Given the description of an element on the screen output the (x, y) to click on. 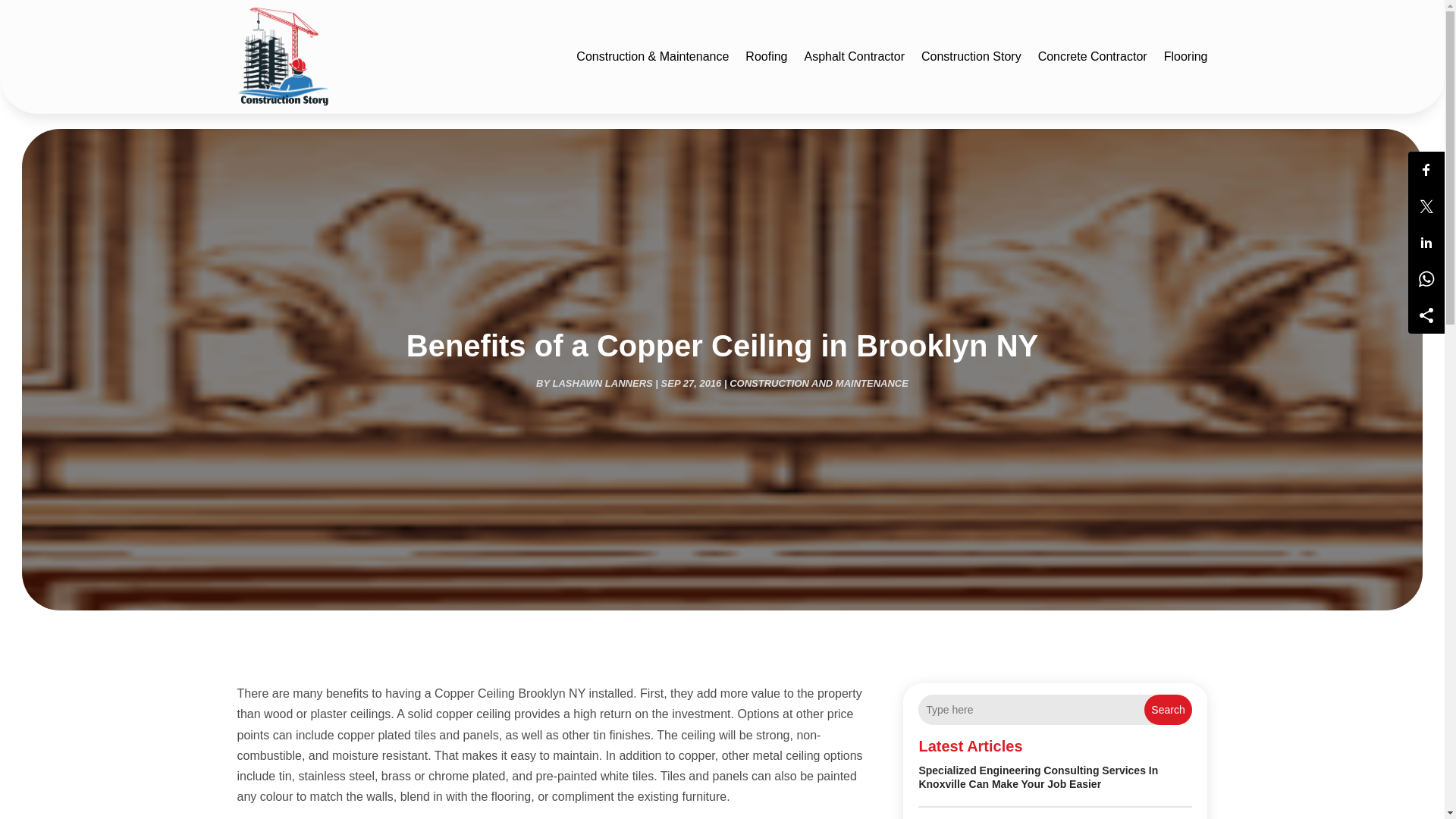
Concrete Contractor (1092, 56)
LASHAWN LANNERS (602, 383)
Posts by lashawn lanners (602, 383)
CONSTRUCTION AND MAINTENANCE (818, 383)
Search (1168, 709)
